Given the description of an element on the screen output the (x, y) to click on. 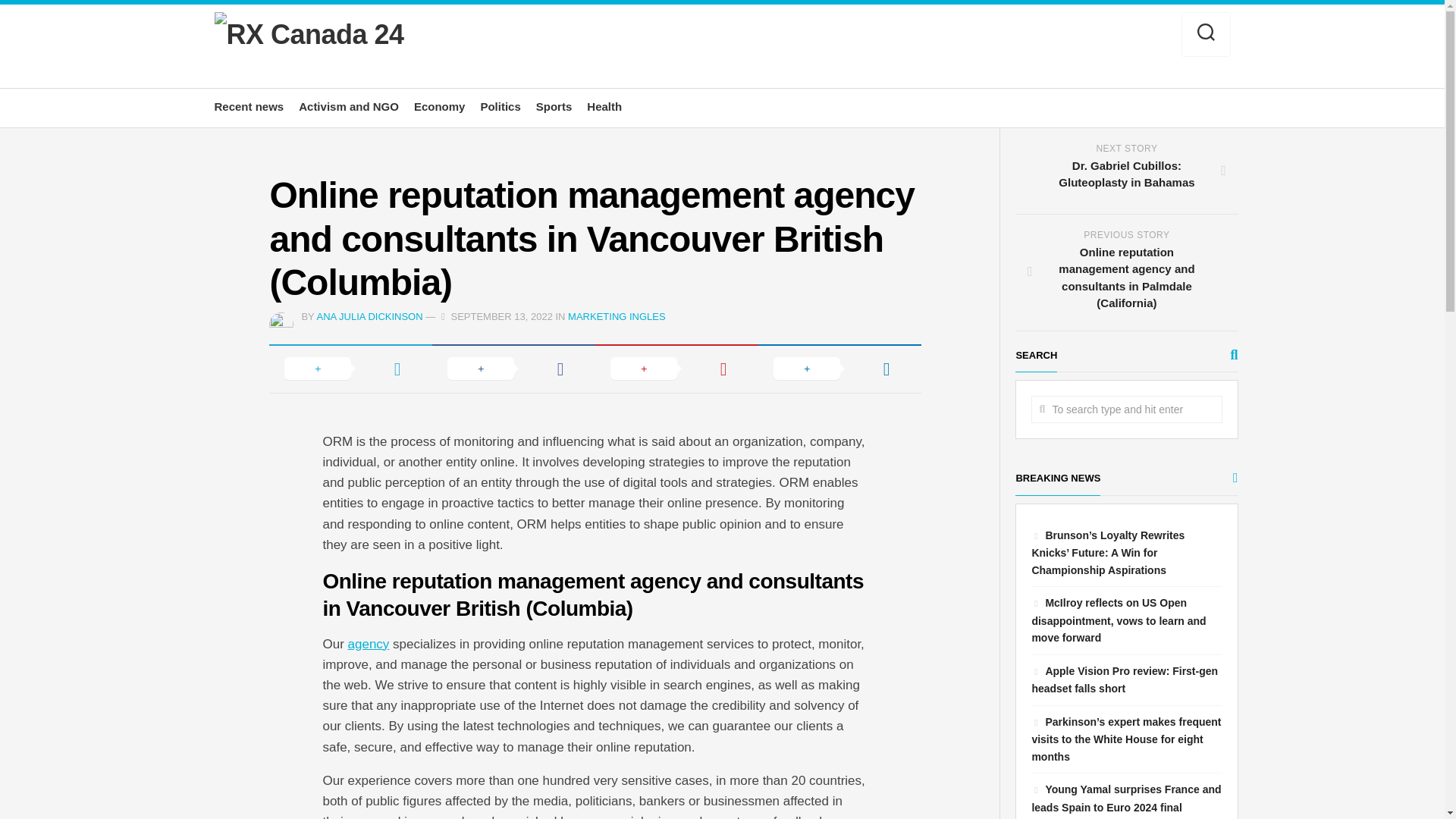
Activism and NGO (348, 106)
MARKETING INGLES (616, 316)
agency (368, 644)
Share on LinkedIn (839, 368)
Share on X (350, 368)
Apple Vision Pro review: First-gen headset falls short (1123, 679)
To search type and hit enter (1125, 409)
ANA JULIA DICKINSON (368, 316)
Politics (499, 106)
Economy (439, 106)
Share on Pinterest (1125, 170)
Share on Facebook (676, 368)
Health (513, 368)
Recent news (603, 106)
